Given the description of an element on the screen output the (x, y) to click on. 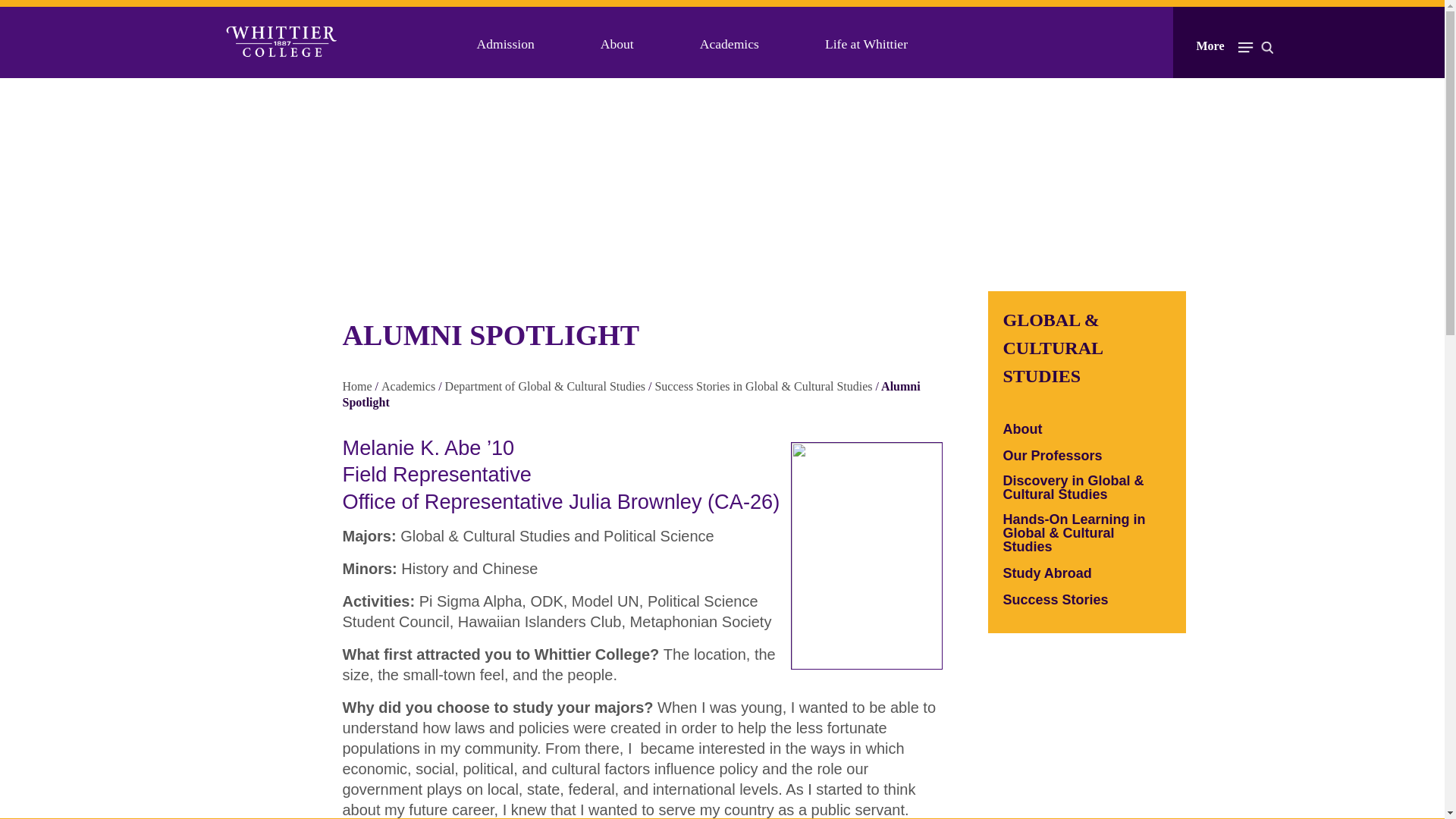
Admission (505, 43)
About (616, 43)
Academics (729, 43)
Life at Whittier (866, 43)
